Given the description of an element on the screen output the (x, y) to click on. 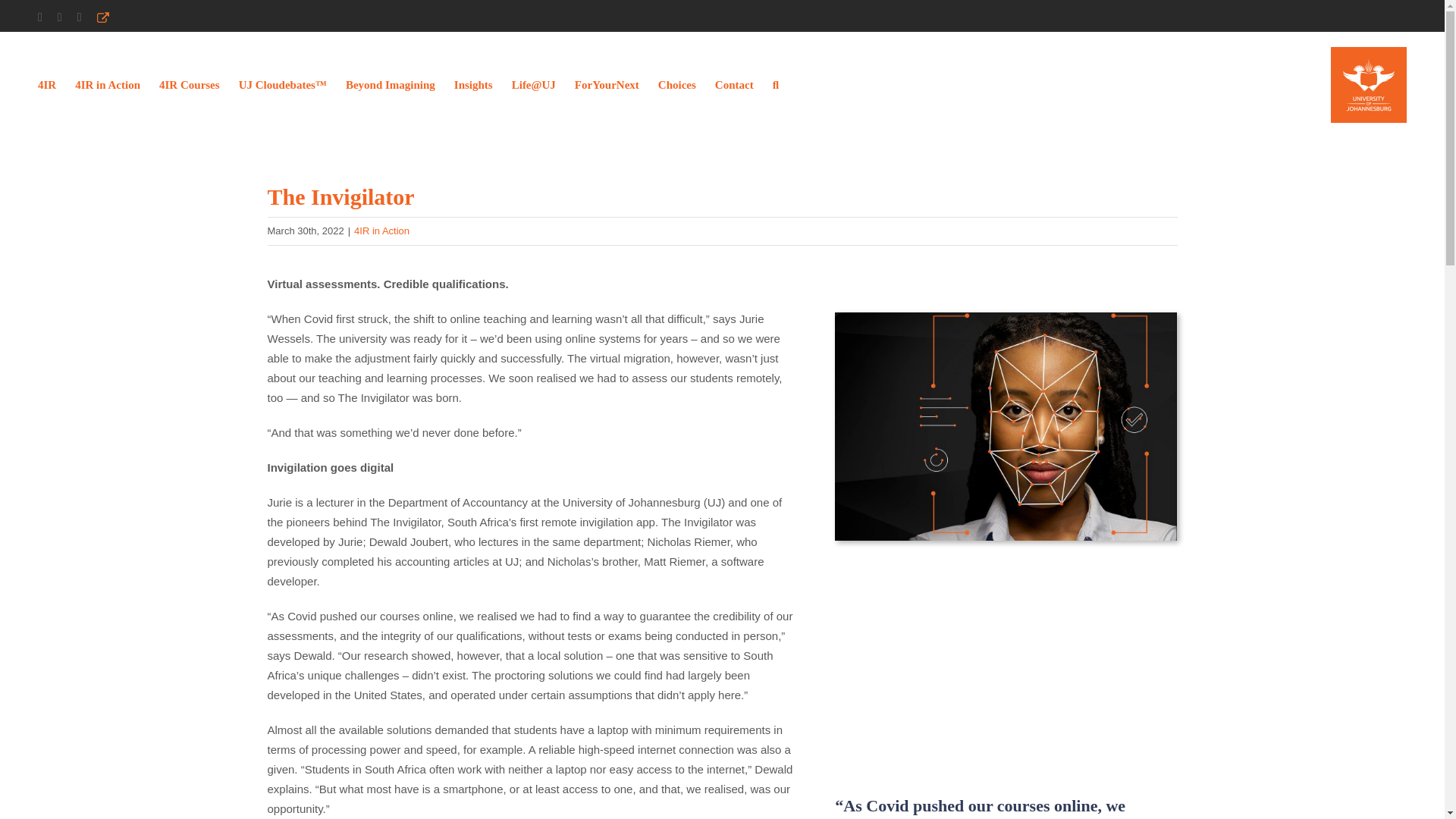
YouTube video player 1 (1005, 667)
invigolator copy (1005, 426)
UJ website (103, 17)
UJ website (103, 17)
